Given the description of an element on the screen output the (x, y) to click on. 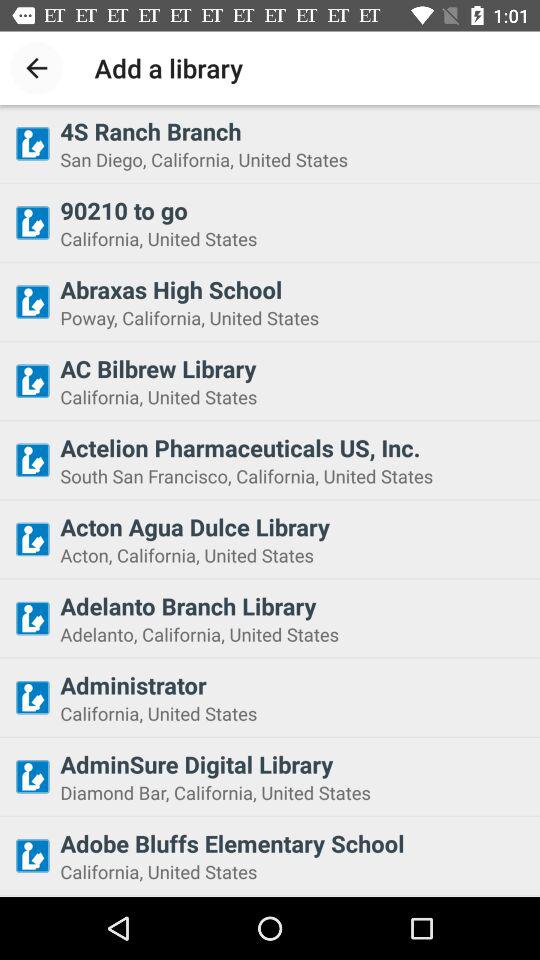
open the 90210 to go (294, 210)
